Given the description of an element on the screen output the (x, y) to click on. 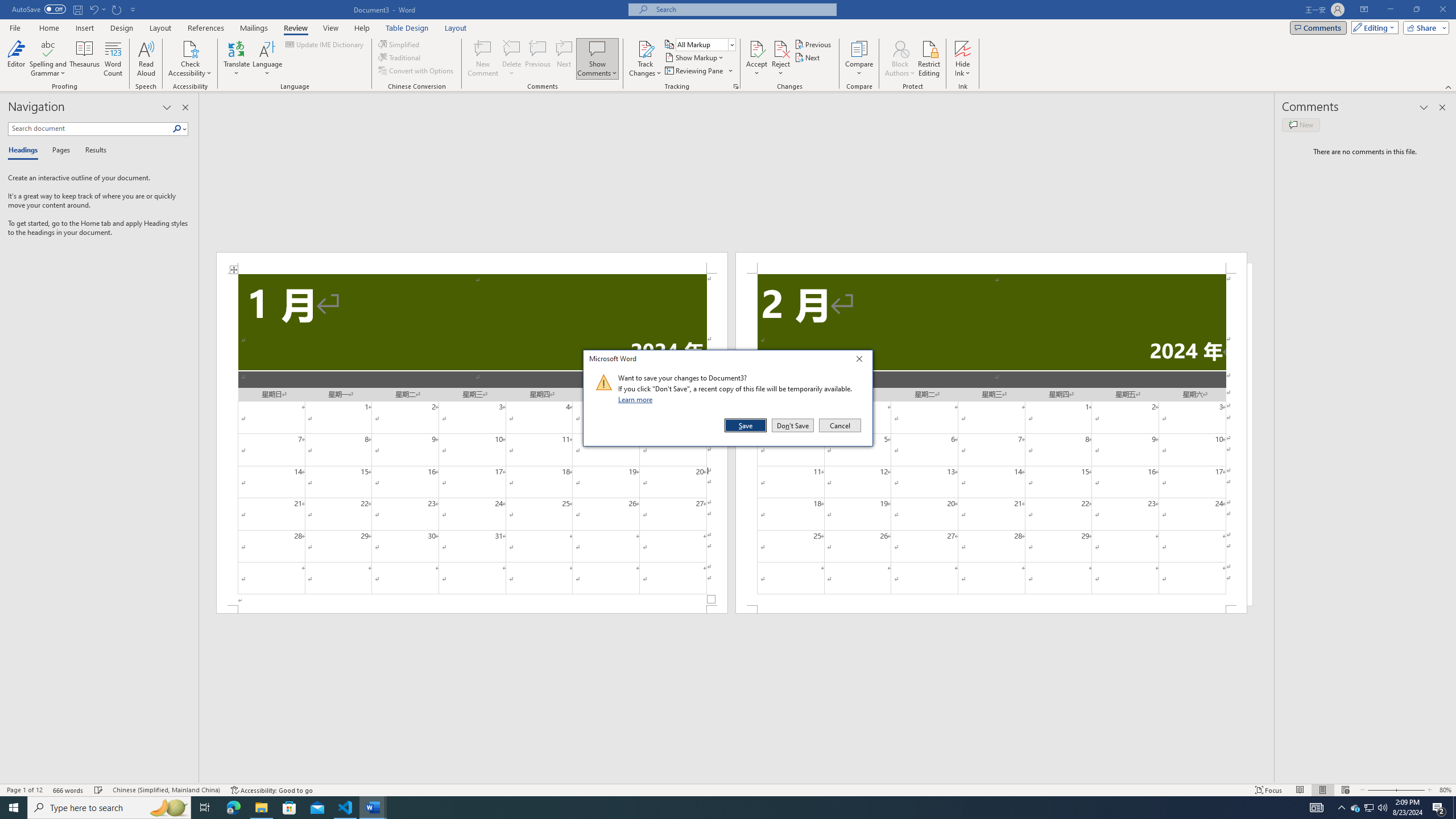
Block Authors (900, 48)
Check Accessibility (189, 48)
Repeat Doc Close (117, 9)
Reject and Move to Next (780, 48)
Action Center, 2 new notifications (1439, 807)
Show Markup (695, 56)
User Promoted Notification Area (1368, 807)
New comment (1300, 124)
Spelling and Grammar (48, 48)
